Given the description of an element on the screen output the (x, y) to click on. 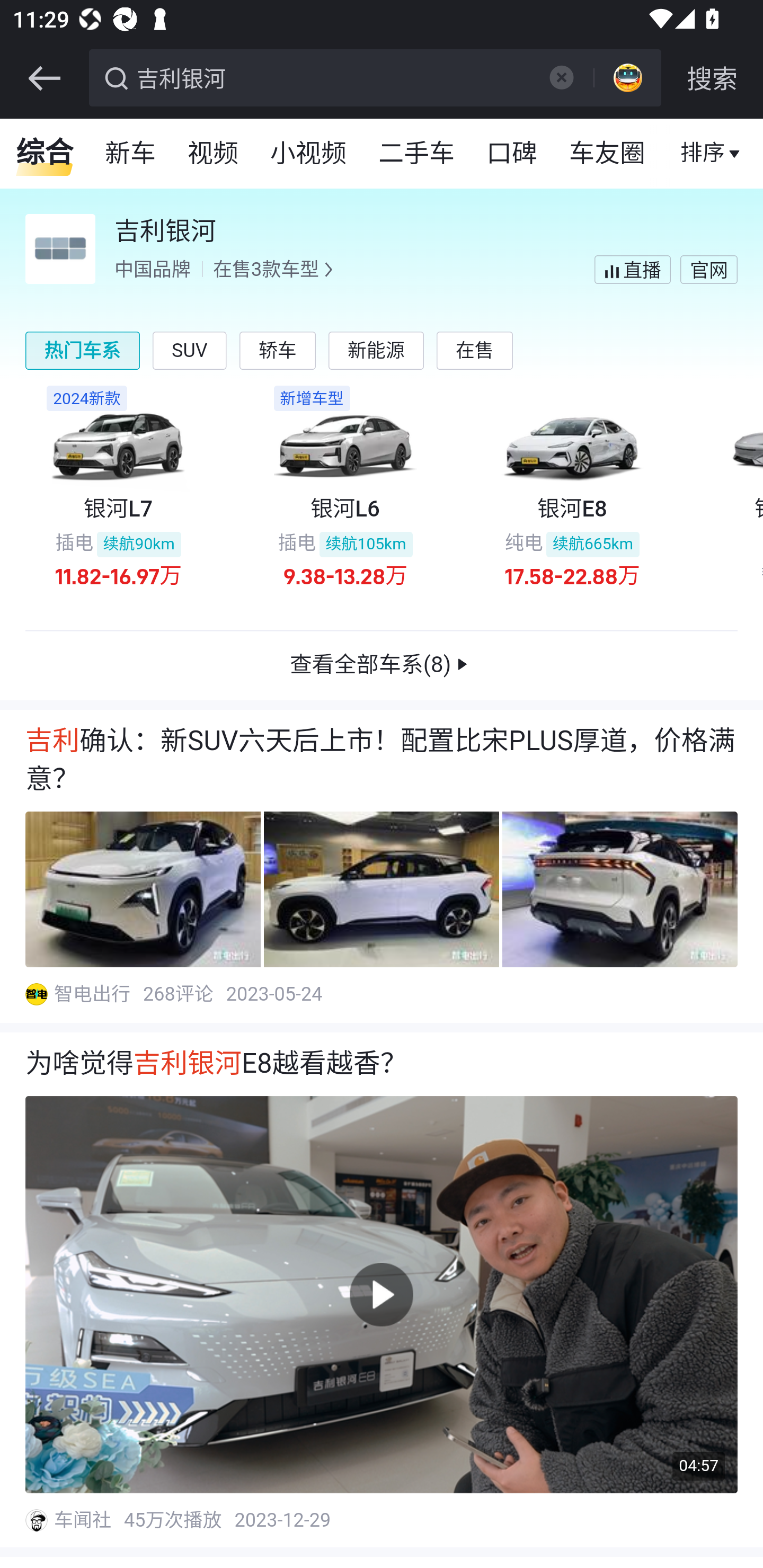
吉利银河 (331, 76)
 (560, 77)
 (44, 78)
搜索 (711, 78)
综合 (44, 153)
新车 (131, 153)
视频 (213, 153)
小视频 (308, 153)
二手车 (417, 153)
口碑 (512, 153)
车友圈 (608, 153)
直播 (703, 153)
ad4a08a4474cd134a33becb09dbdd293 直播 (631, 269)
官网 (708, 269)
热门车系 (83, 350)
SUV (189, 350)
轿车 (277, 350)
新能源 (375, 350)
在售 (474, 350)
2024新款 银河L7 插电续航90km 11.82-16.97万 (118, 495)
新增车型 银河L6 插电续航105km 9.38-13.28万 (344, 495)
银河E8 纯电续航665km 17.58-22.88万 (572, 495)
11.82-16.97万 (118, 575)
9.38-13.28万 (345, 575)
17.58-22.88万 (571, 575)
查看全部车系(8) (381, 666)
吉利确认：新SUV六天后上市！配置比宋PLUS厚道，价格满意？ (381, 760)
智电出行 (92, 994)
f82fe1e59eb3d089453cd964ba7f5939~300x300 (36, 994)
为啥觉得吉利银河E8越看越香？ (381, 1065)
车闻社 (83, 1520)
8c5f81f9cc80d85413180cef77a7fc9b~300x300 (36, 1520)
